Given the description of an element on the screen output the (x, y) to click on. 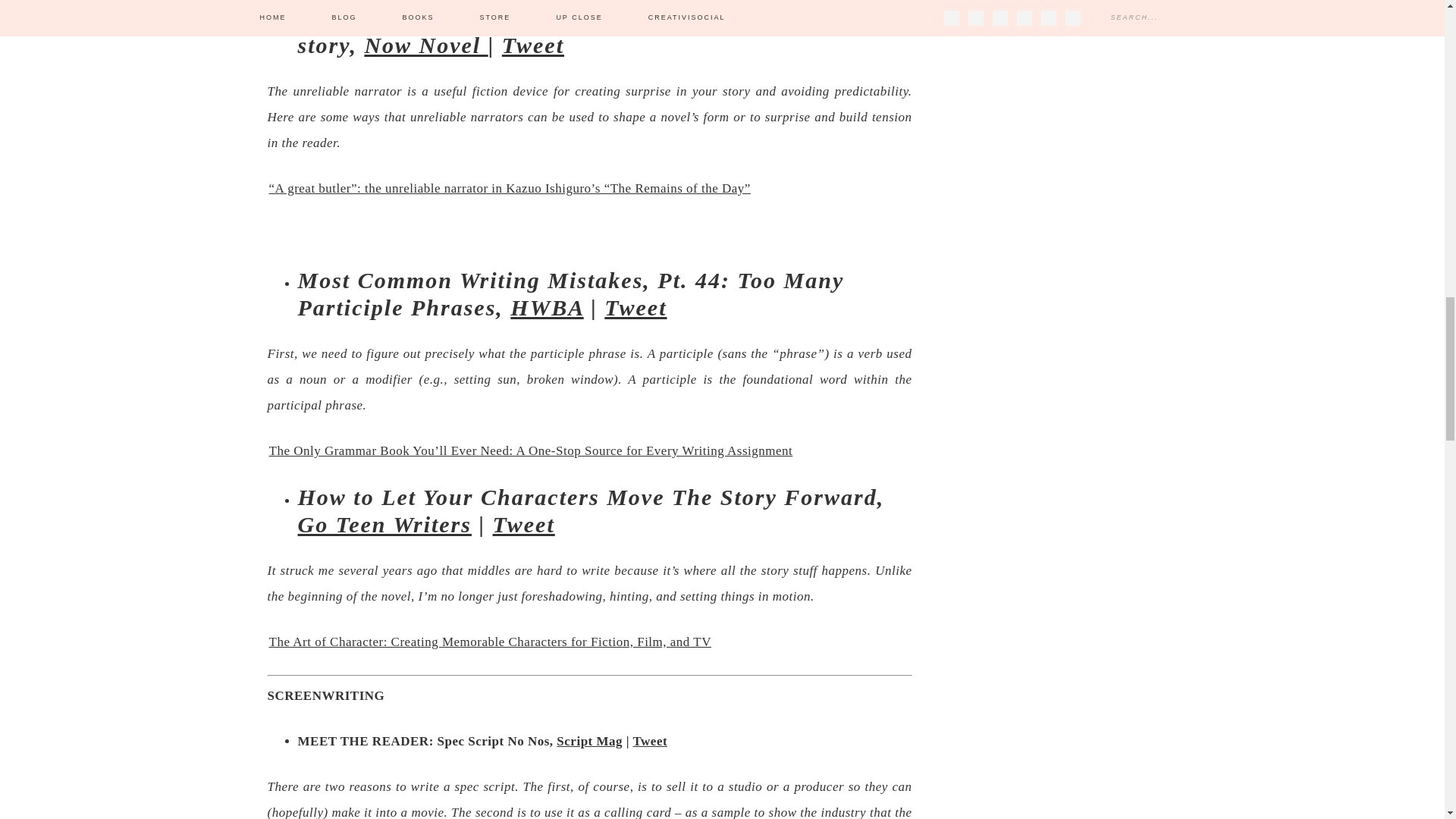
Now Novel  (425, 44)
Tweet (533, 44)
Tweet (635, 307)
HWBA (547, 307)
Go Teen Writers (383, 524)
